Given the description of an element on the screen output the (x, y) to click on. 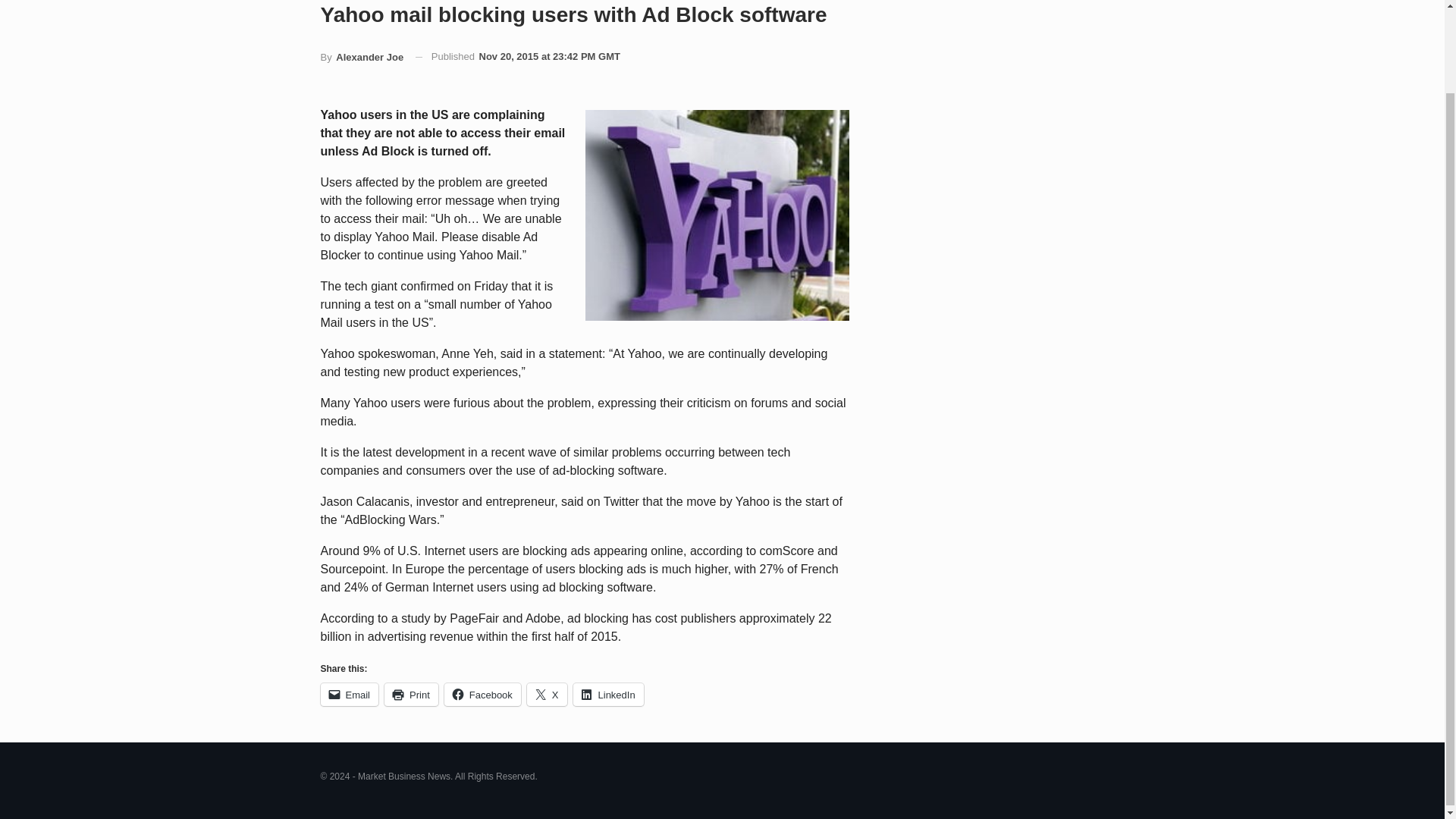
Browse Author Articles (361, 57)
X (547, 694)
Click to email a link to a friend (349, 694)
Print (411, 694)
LinkedIn (608, 694)
Click to share on LinkedIn (608, 694)
Click to share on X (547, 694)
Email (349, 694)
Facebook (482, 694)
Click to print (411, 694)
